Given the description of an element on the screen output the (x, y) to click on. 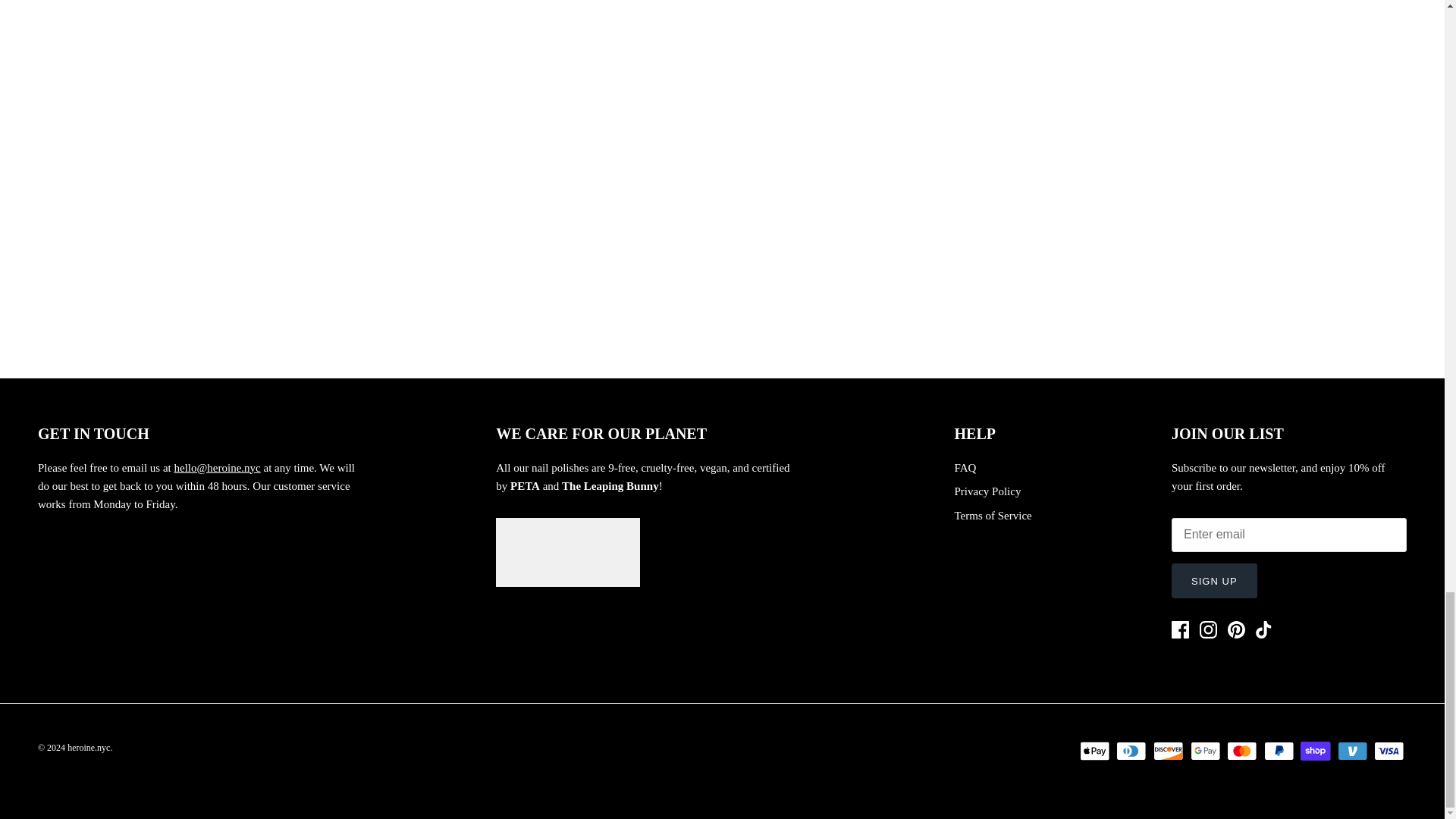
Pinterest (1235, 629)
Visa (1388, 751)
PayPal (1278, 751)
Instagram (1208, 629)
Mastercard (1241, 751)
Venmo (1352, 751)
Google Pay (1205, 751)
Facebook (1180, 629)
Diners Club (1130, 751)
Shop Pay (1315, 751)
